Given the description of an element on the screen output the (x, y) to click on. 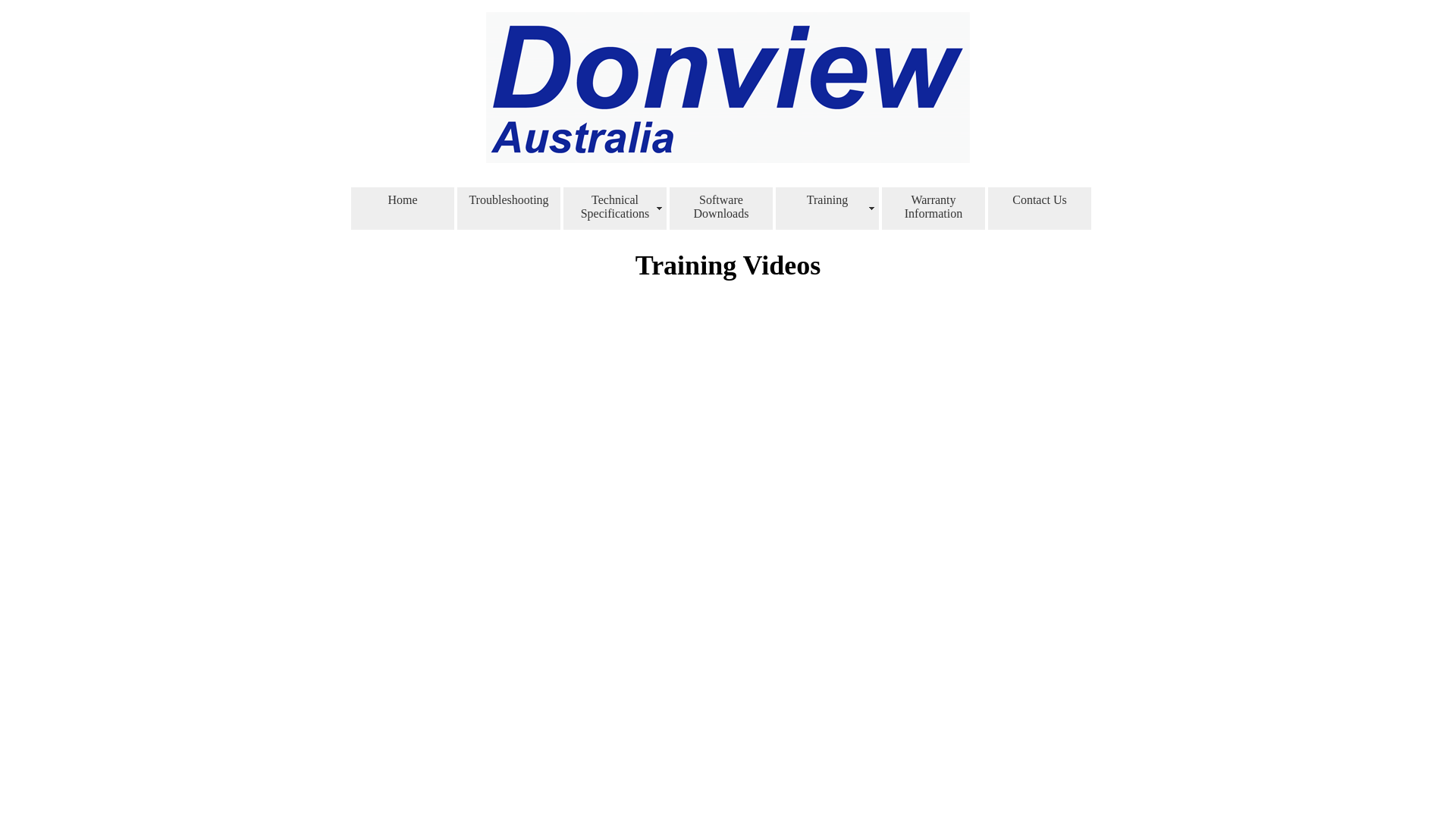
Warranty Information Element type: text (933, 208)
Contact Us Element type: text (1039, 208)
Troubleshooting Element type: text (508, 208)
Training Element type: text (826, 208)
Software Downloads Element type: text (720, 208)
Technical Specifications Element type: text (614, 208)
Home Element type: text (402, 208)
